Given the description of an element on the screen output the (x, y) to click on. 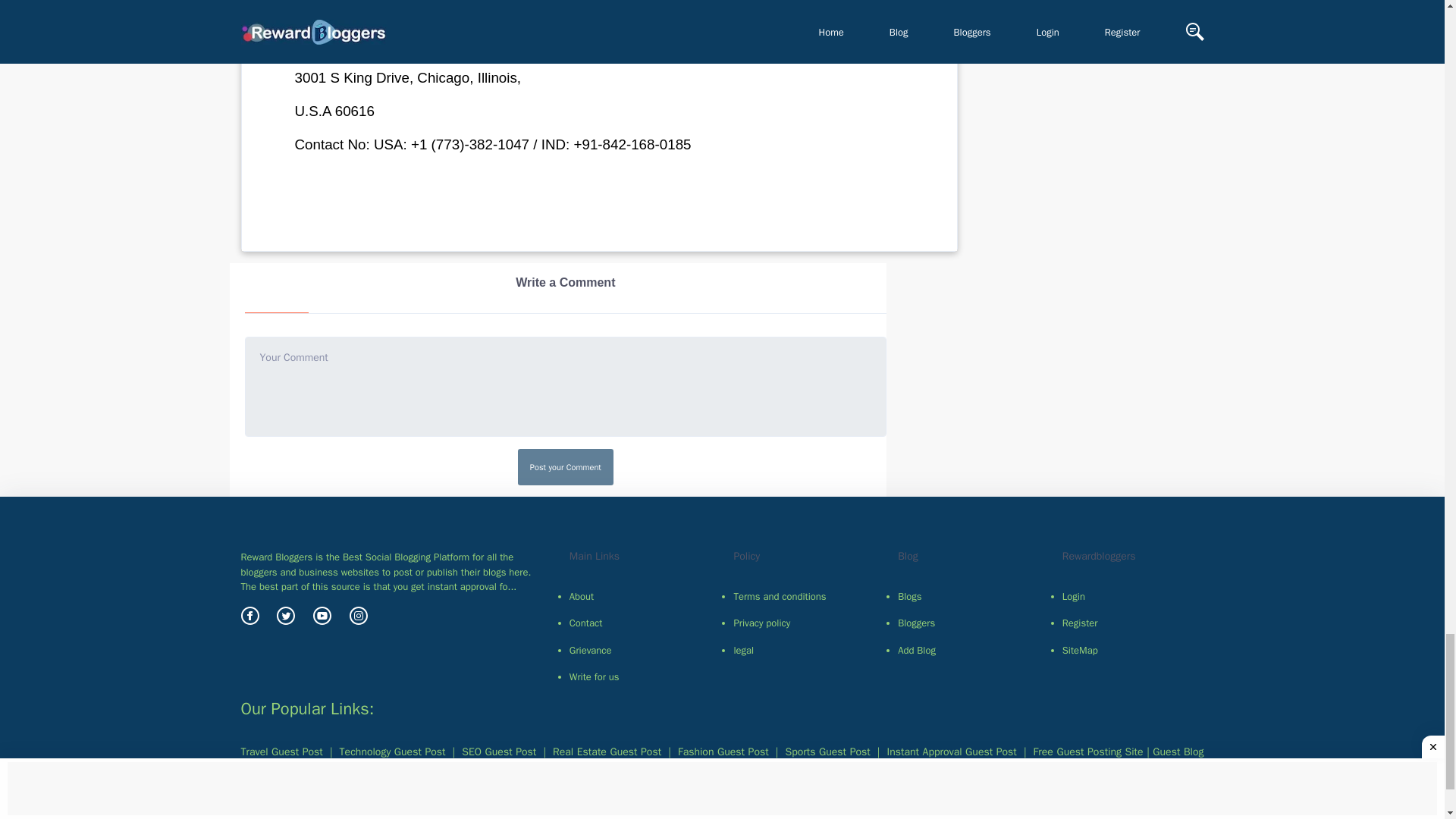
Travel Guest Post (282, 751)
Free Guest Posting Site (1087, 751)
Guest Blog Posting WebSite (722, 759)
Instant Approval Guest Post (951, 751)
Instant Approval Guest Post (381, 767)
Sports Guest Post (828, 751)
Real Estate Guest Post (607, 751)
SEO Guest Post (498, 751)
Technology Guest Post (392, 751)
Fashion Guest Post (723, 751)
